Given the description of an element on the screen output the (x, y) to click on. 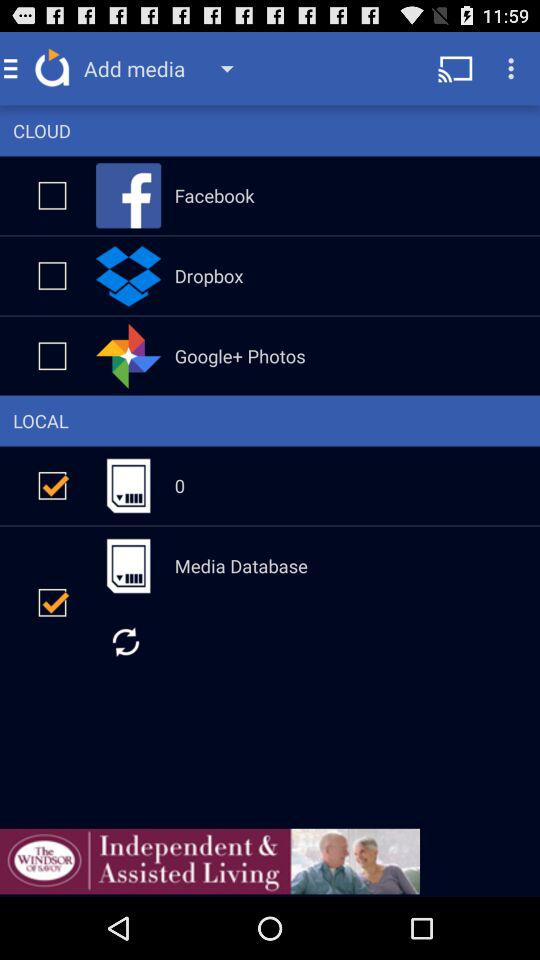
open advertisement (210, 861)
